Given the description of an element on the screen output the (x, y) to click on. 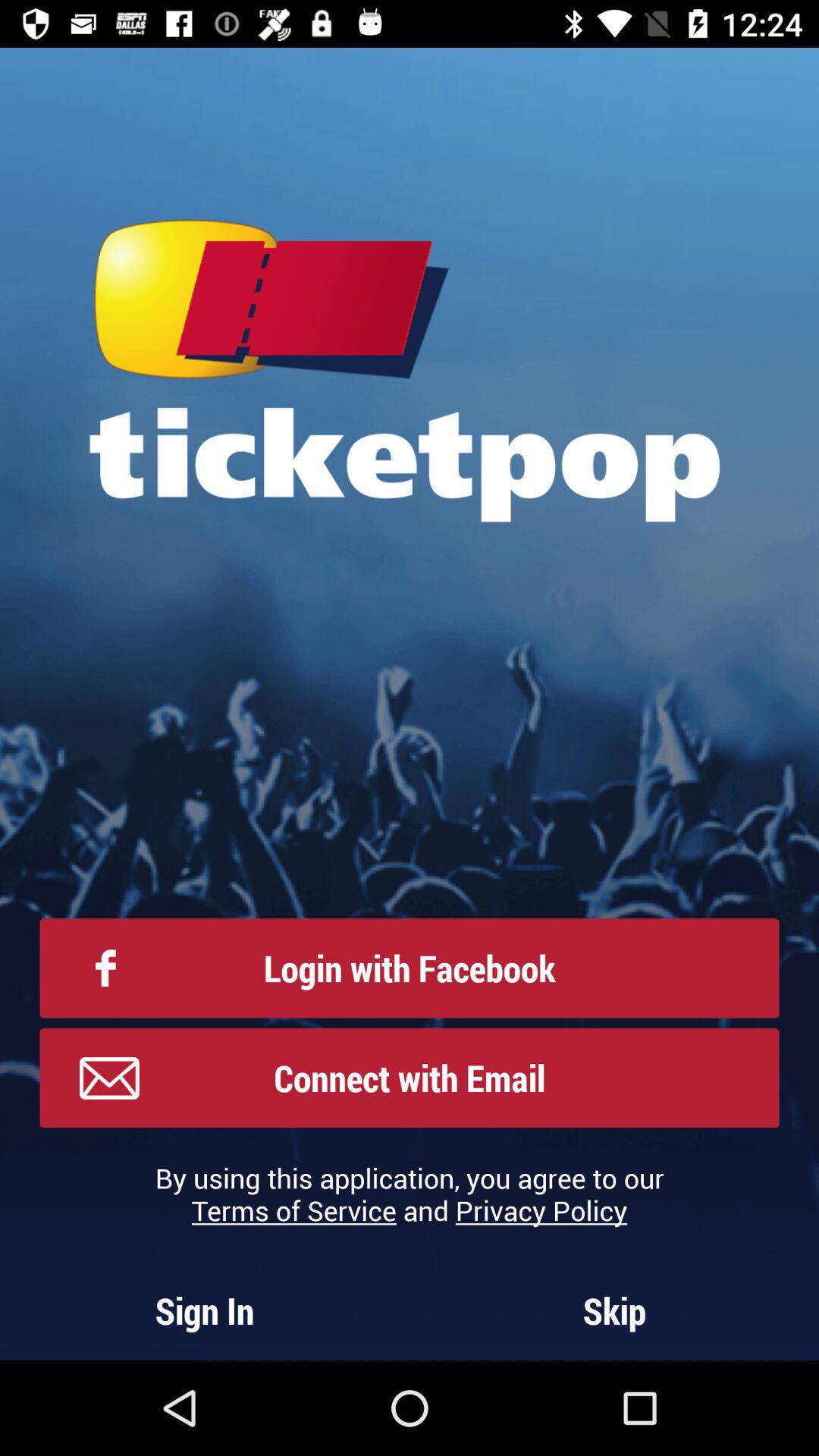
turn off the icon below the by using this (204, 1310)
